Given the description of an element on the screen output the (x, y) to click on. 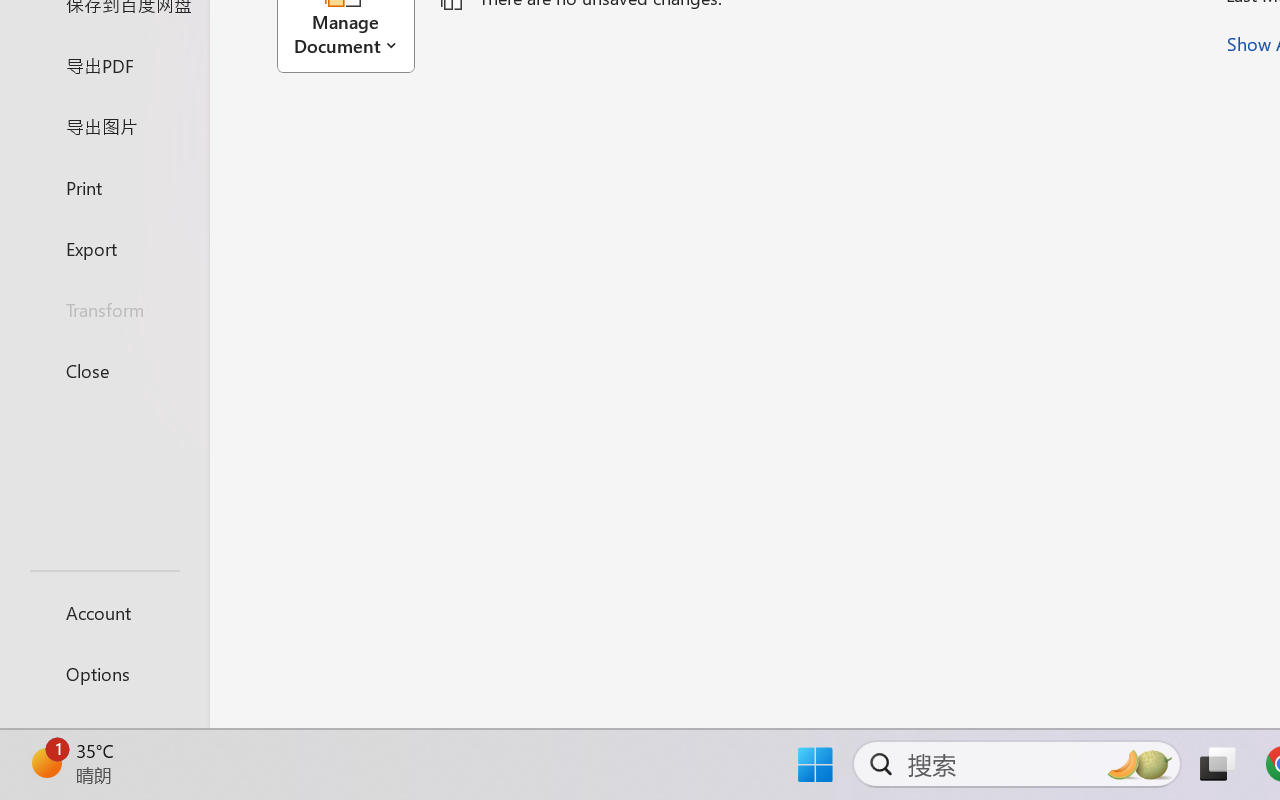
Options (104, 673)
Print (104, 186)
Transform (104, 309)
Export (104, 248)
Account (104, 612)
